Given the description of an element on the screen output the (x, y) to click on. 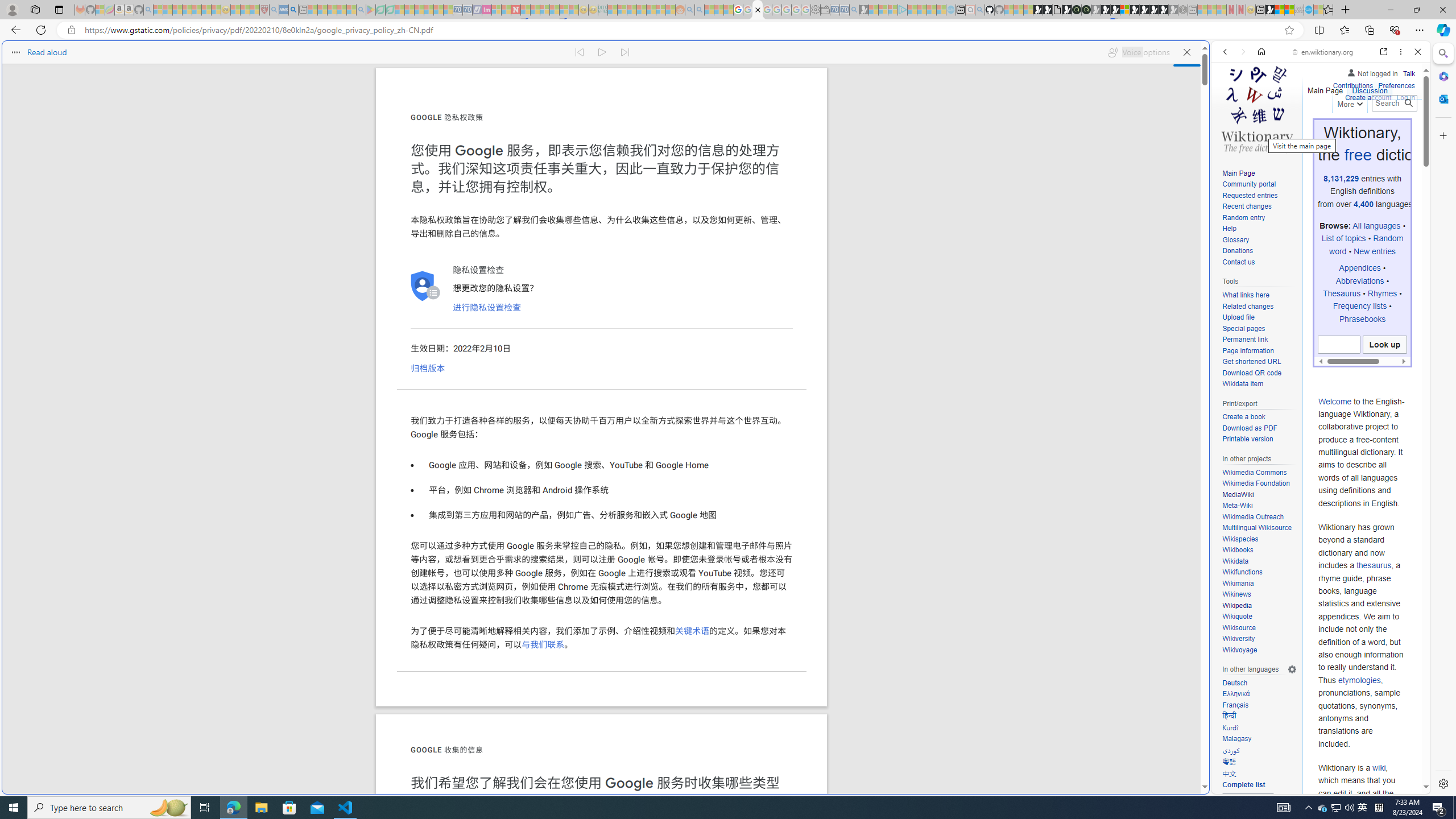
Language settings (1292, 669)
Create account (1367, 98)
github - Search - Sleeping (979, 9)
Special pages (1243, 328)
List of topics (1342, 238)
Upload file (1238, 317)
Contributions (1352, 84)
Download as PDF (1259, 428)
Wikidata item (1242, 384)
Close read aloud (1186, 52)
